Given the description of an element on the screen output the (x, y) to click on. 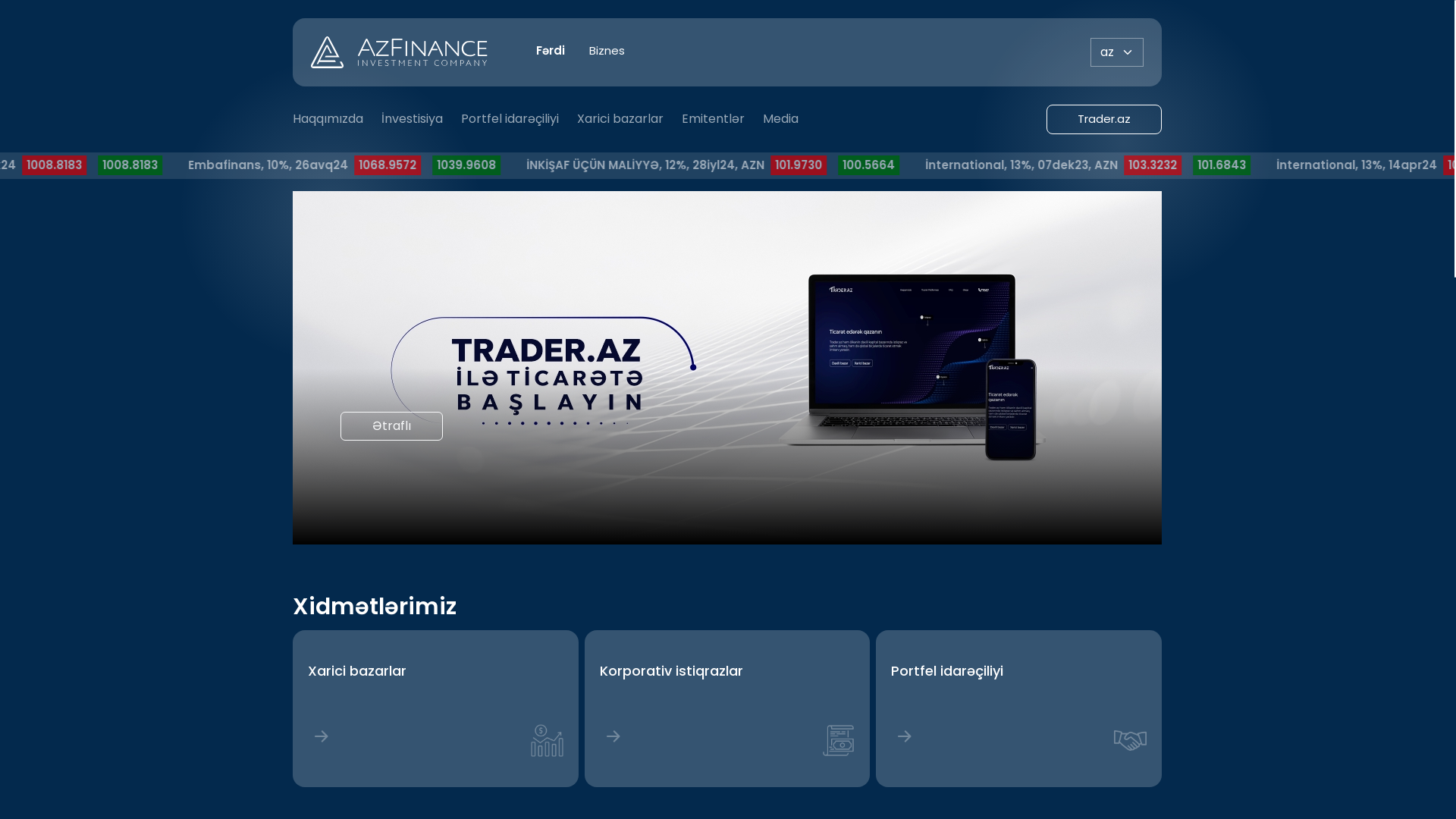
Trader.az Element type: text (1103, 118)
Xarici bazarlar Element type: text (620, 118)
Media Element type: text (780, 118)
Biznes Element type: text (607, 50)
